Given the description of an element on the screen output the (x, y) to click on. 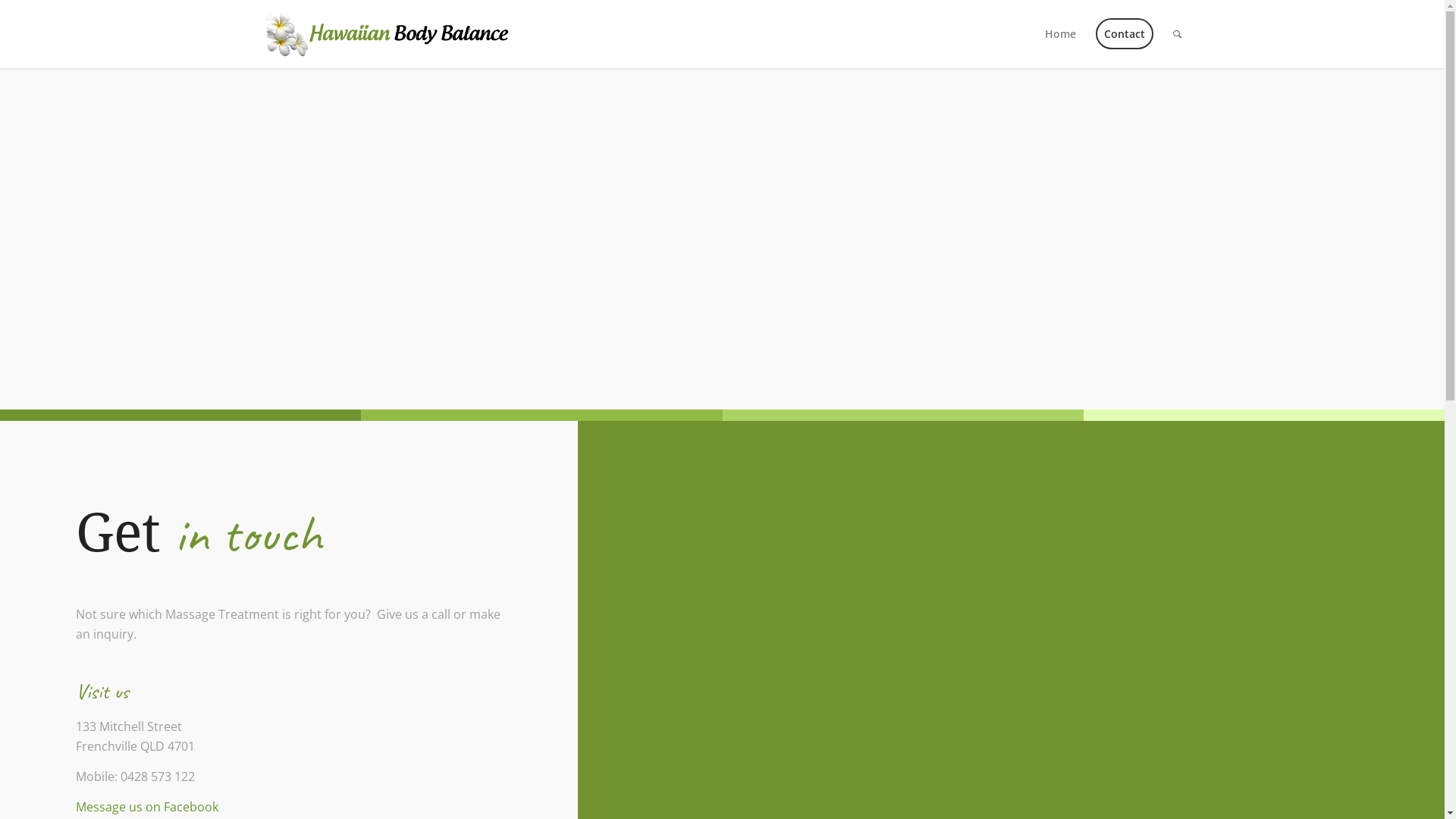
Contact Element type: text (1124, 34)
Home Element type: text (1059, 34)
Message us on Facebook Element type: text (146, 806)
